Given the description of an element on the screen output the (x, y) to click on. 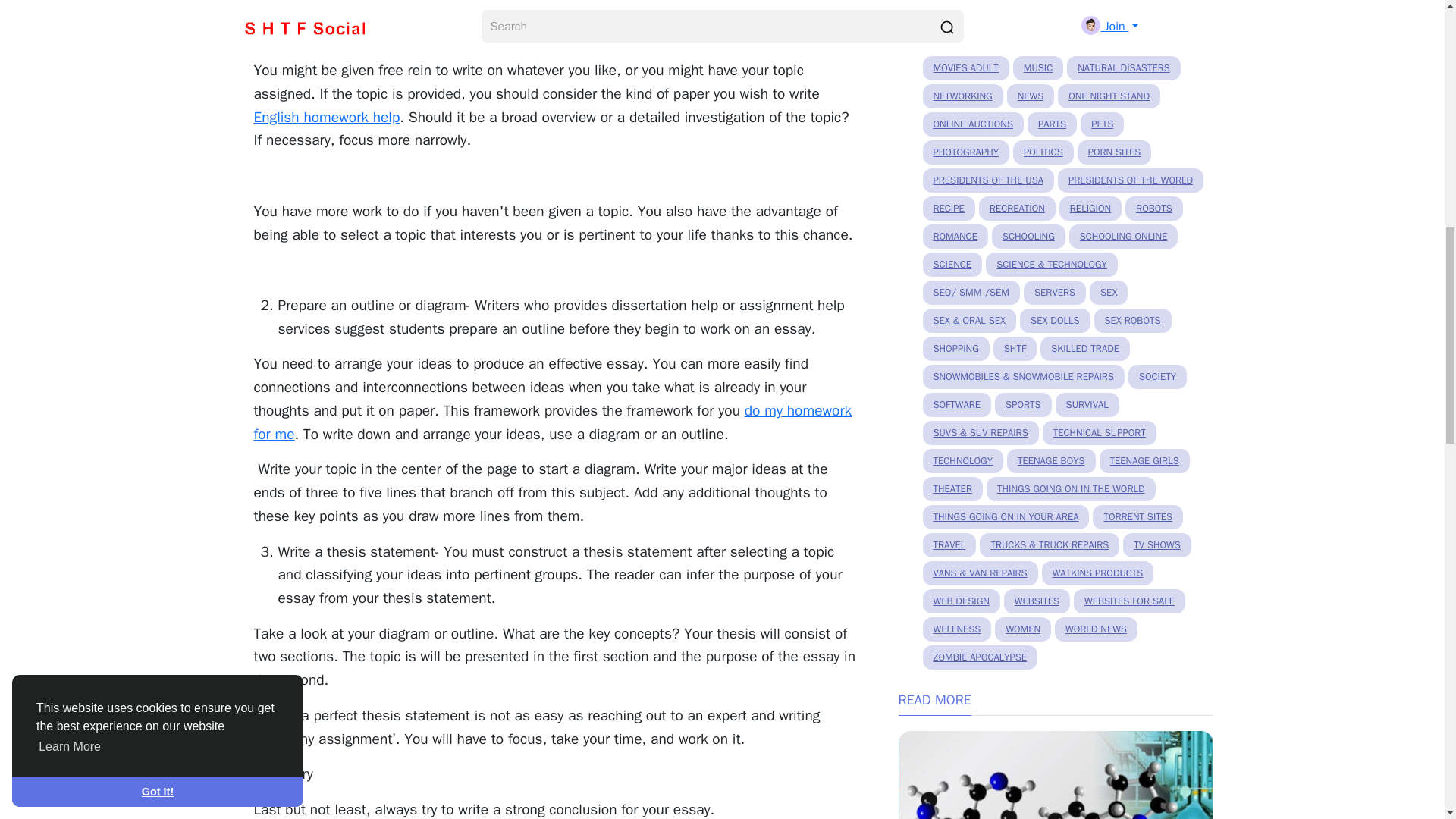
English homework help (325, 117)
do my homework for me (552, 422)
